Given the description of an element on the screen output the (x, y) to click on. 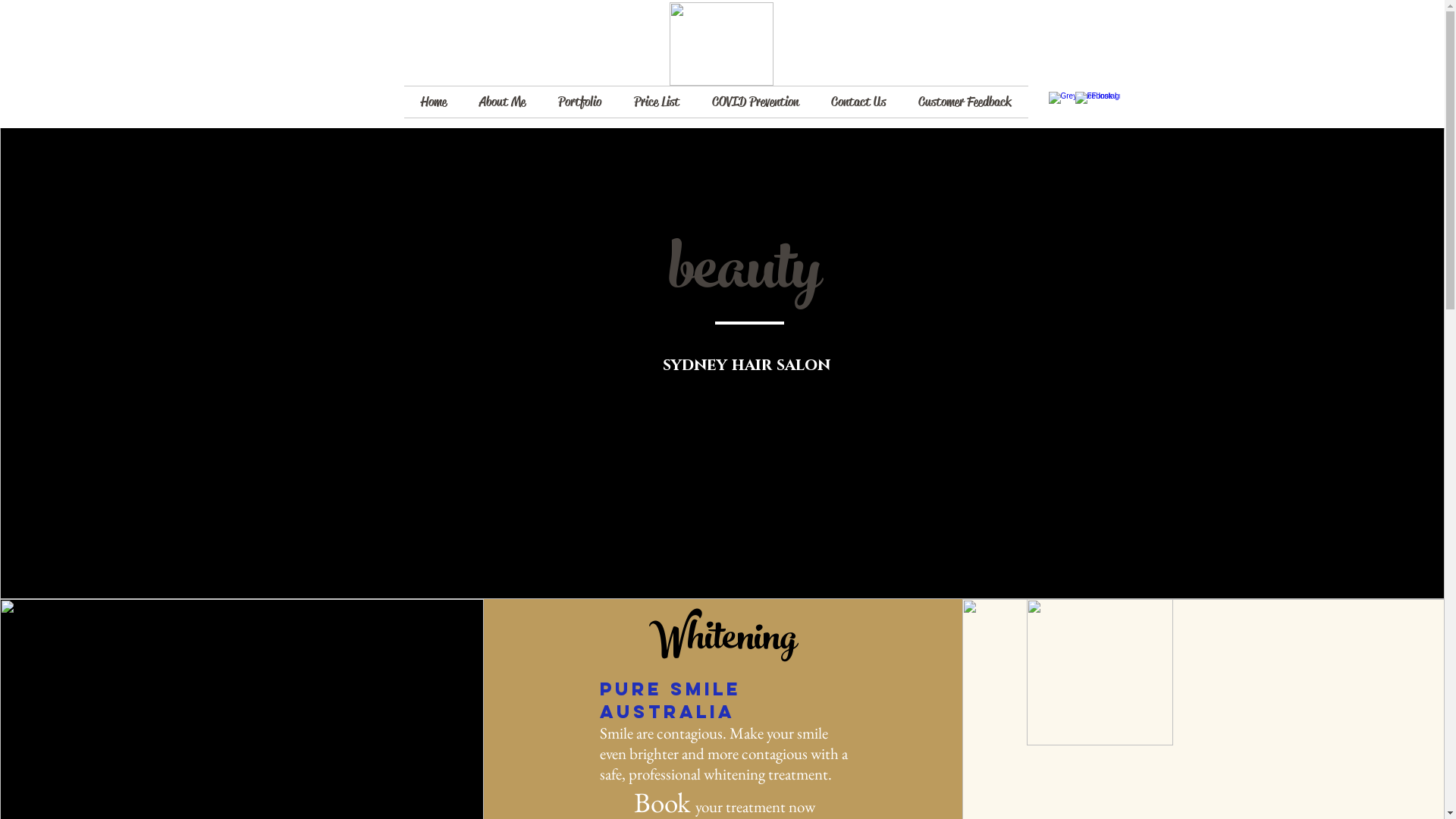
COVID Prevention Element type: text (755, 101)
Contact Us Element type: text (857, 101)
About Me Element type: text (501, 101)
Home Element type: text (432, 101)
Customer Feedback Element type: text (965, 101)
